Given the description of an element on the screen output the (x, y) to click on. 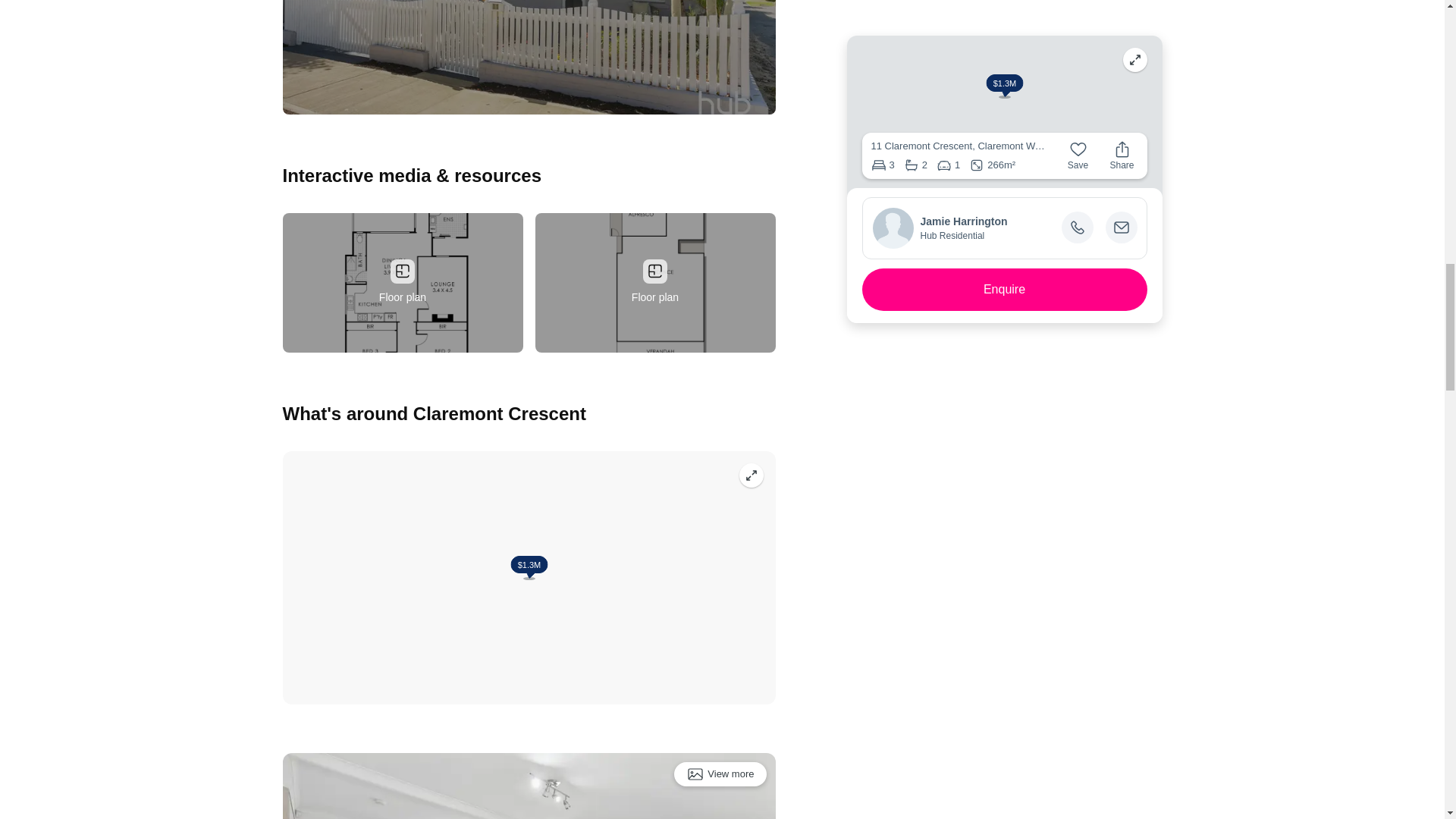
Video (528, 57)
Floor plan (655, 282)
Floor plan (402, 282)
